Given the description of an element on the screen output the (x, y) to click on. 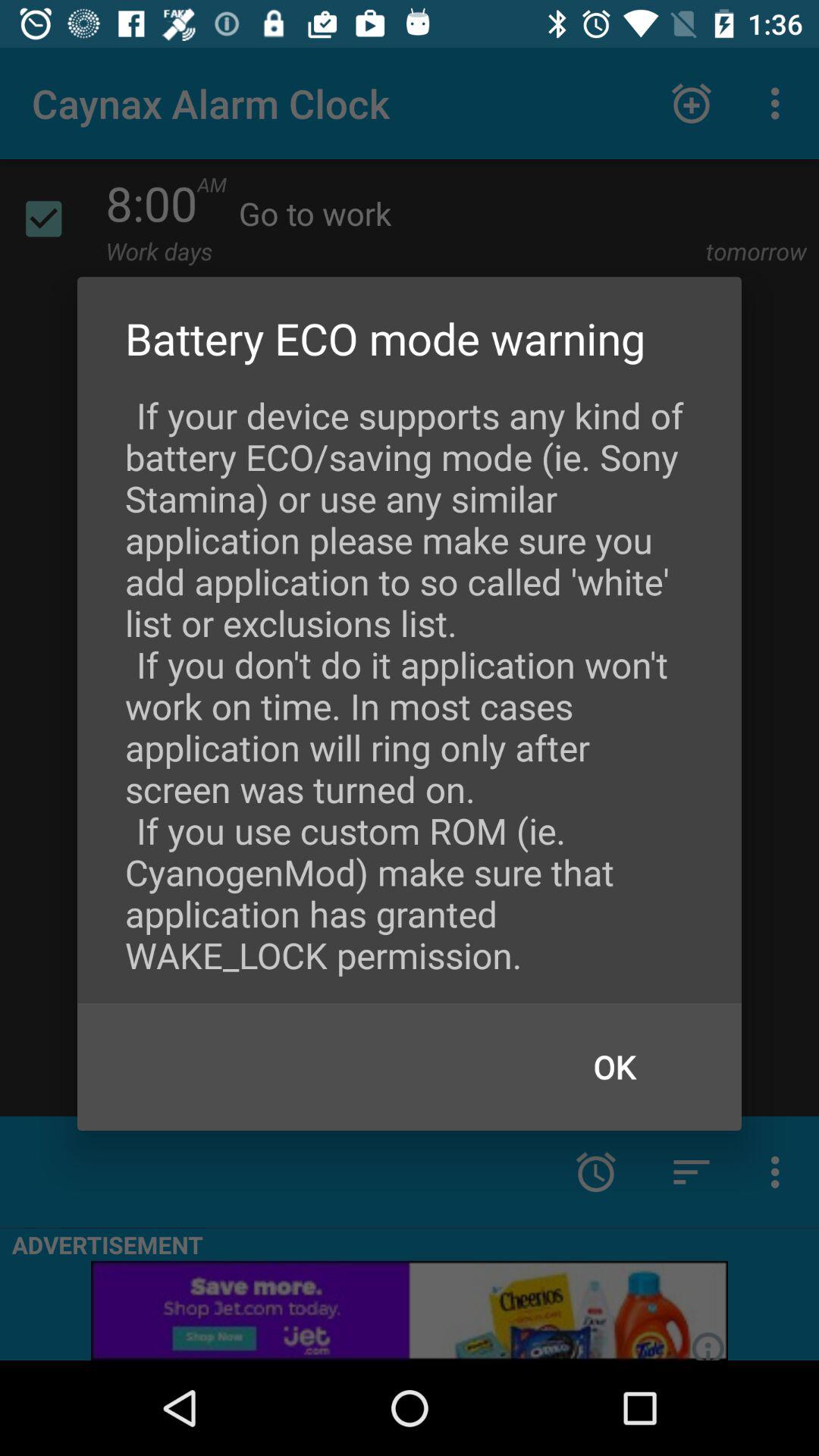
swipe until the ok icon (613, 1066)
